Given the description of an element on the screen output the (x, y) to click on. 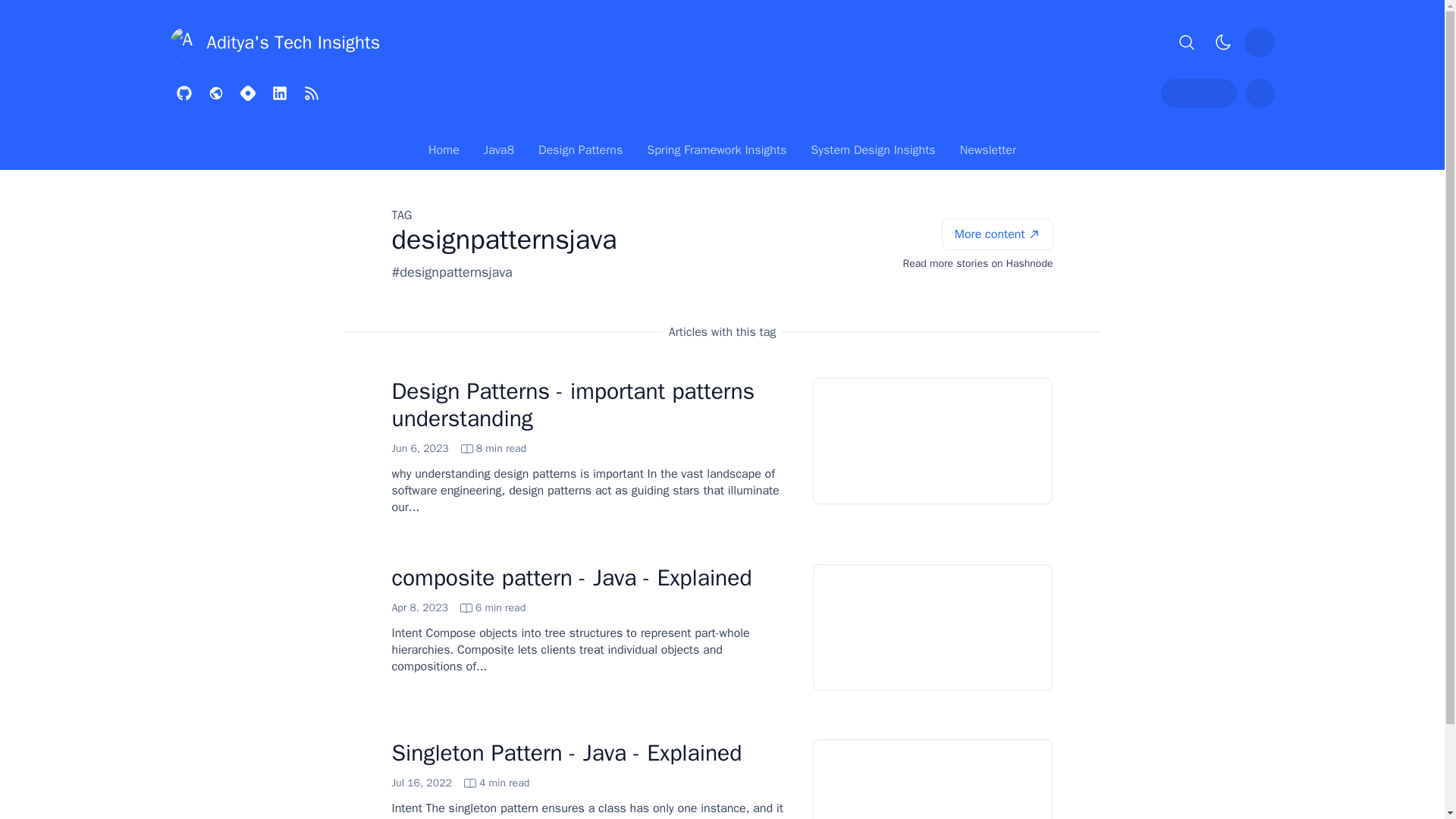
Design Patterns (579, 153)
Design Patterns - important patterns understanding (460, 783)
Singleton Pattern - Java - Explained (572, 404)
Home (566, 752)
More content (443, 153)
Spring Framework Insights (997, 234)
